Given the description of an element on the screen output the (x, y) to click on. 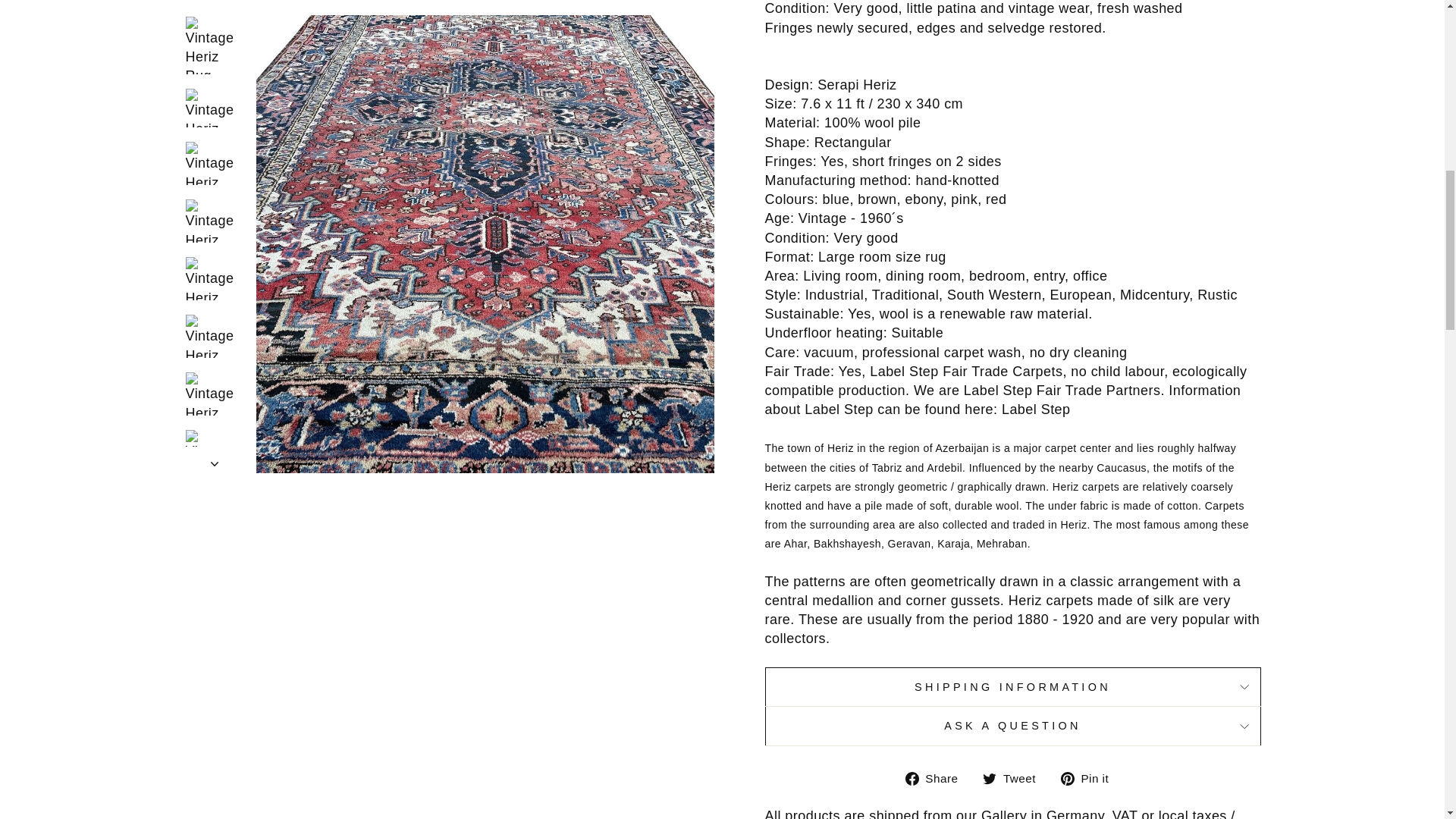
Tweet on Twitter (1014, 778)
Share on Facebook (937, 778)
Pin on Pinterest (1090, 778)
twitter (988, 778)
